Given the description of an element on the screen output the (x, y) to click on. 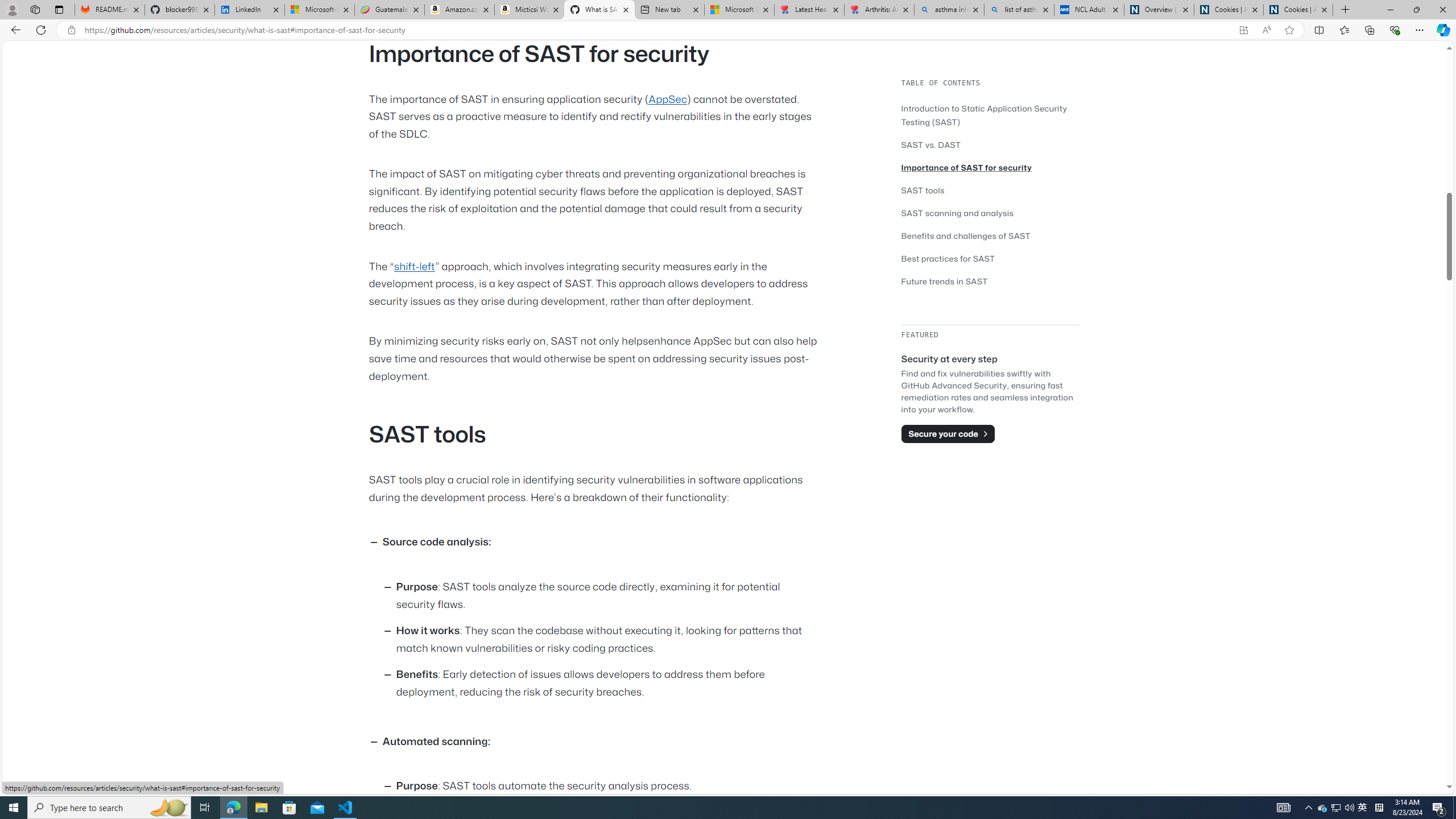
Secure your code (947, 433)
Future trends in SAST (944, 280)
Future trends in SAST (989, 281)
Best practices for SAST (989, 258)
